Given the description of an element on the screen output the (x, y) to click on. 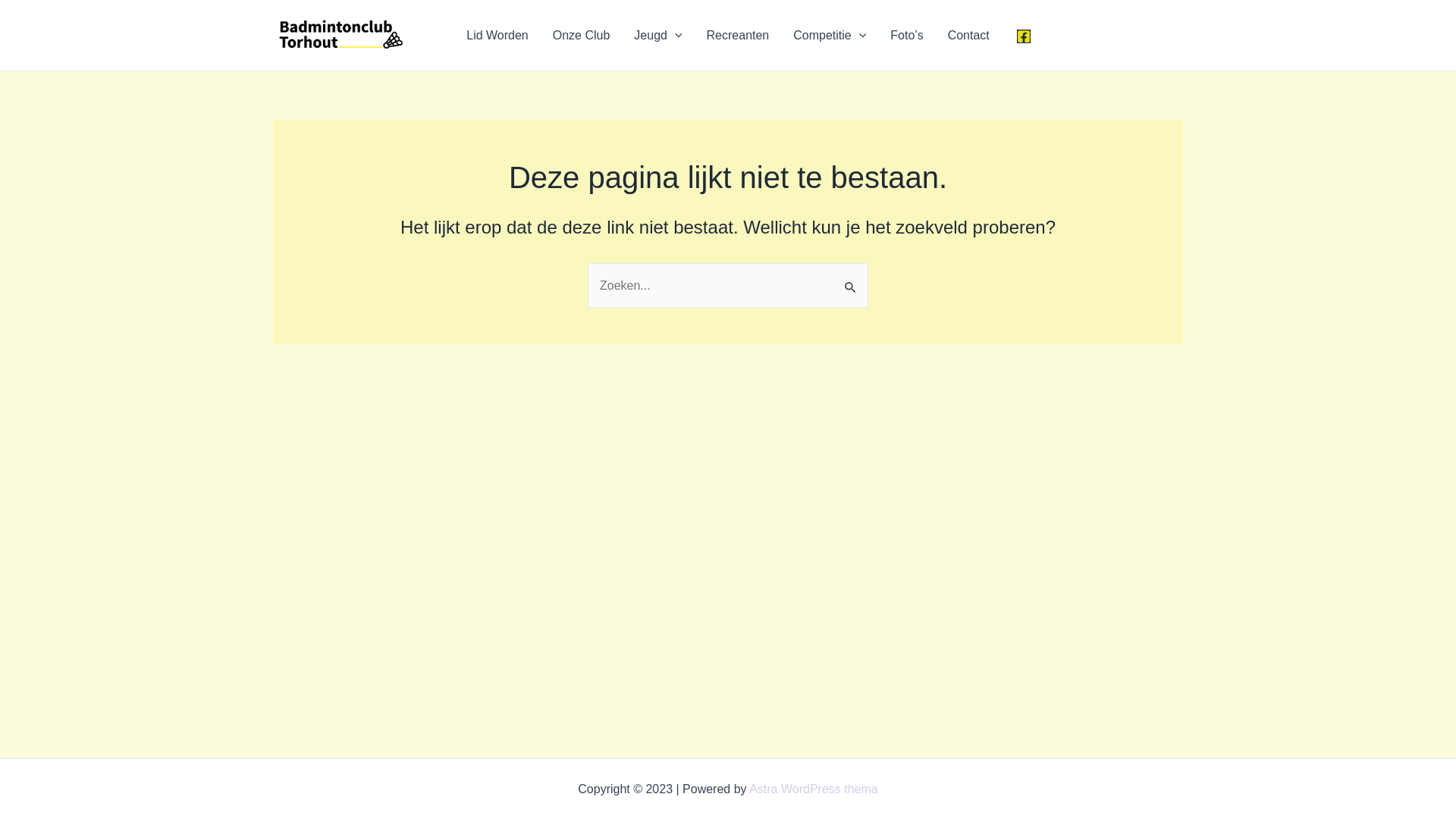
Competitie Element type: text (829, 35)
Zoeken Element type: text (851, 278)
Onze Club Element type: text (581, 35)
Recreanten Element type: text (737, 35)
Astra WordPress thema Element type: text (813, 788)
Lid Worden Element type: text (497, 35)
Contact Element type: text (968, 35)
Jeugd Element type: text (657, 35)
